Given the description of an element on the screen output the (x, y) to click on. 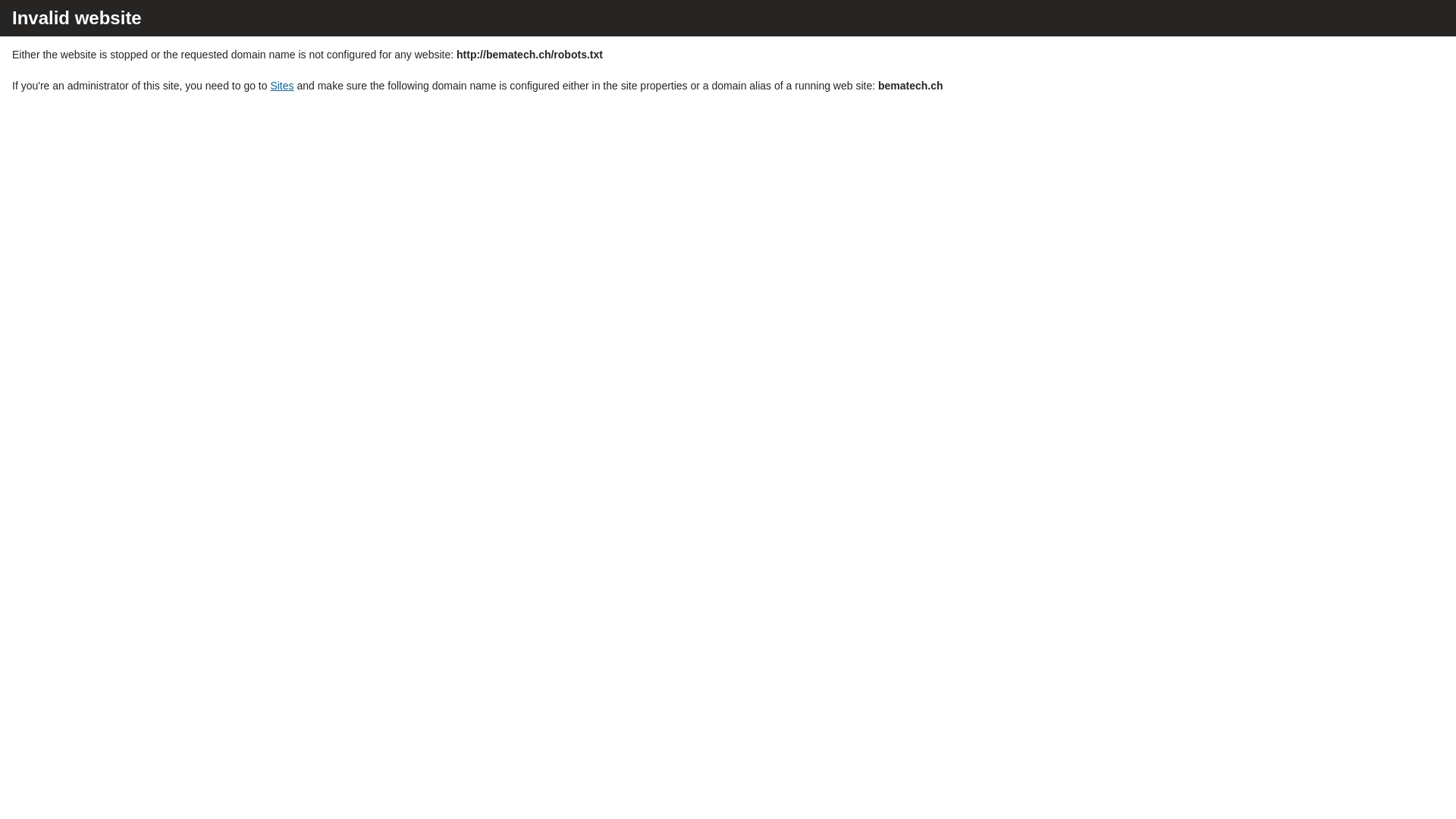
Sites Element type: text (281, 85)
